Given the description of an element on the screen output the (x, y) to click on. 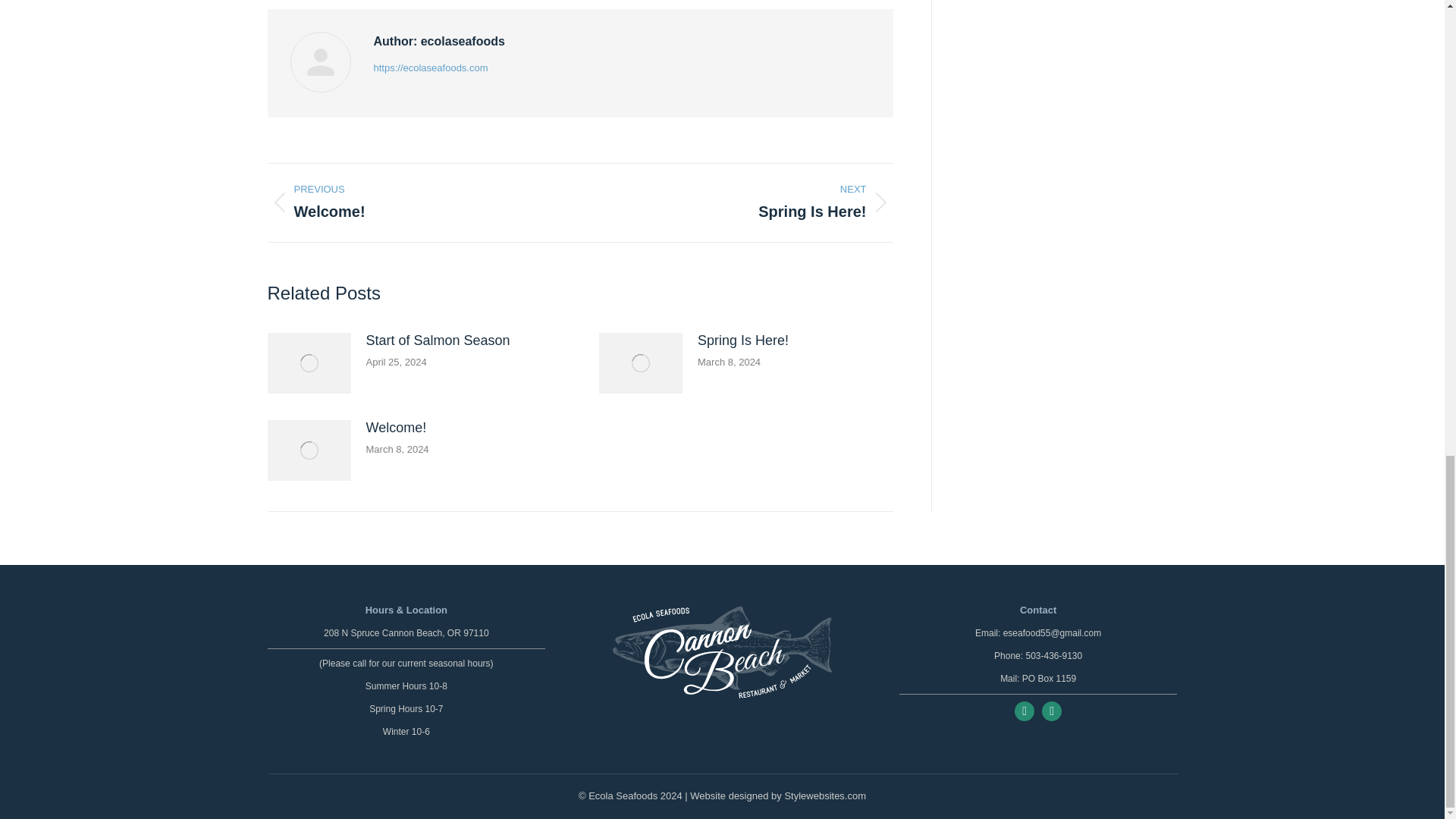
Instagram (1051, 711)
Facebook (1023, 711)
